Given the description of an element on the screen output the (x, y) to click on. 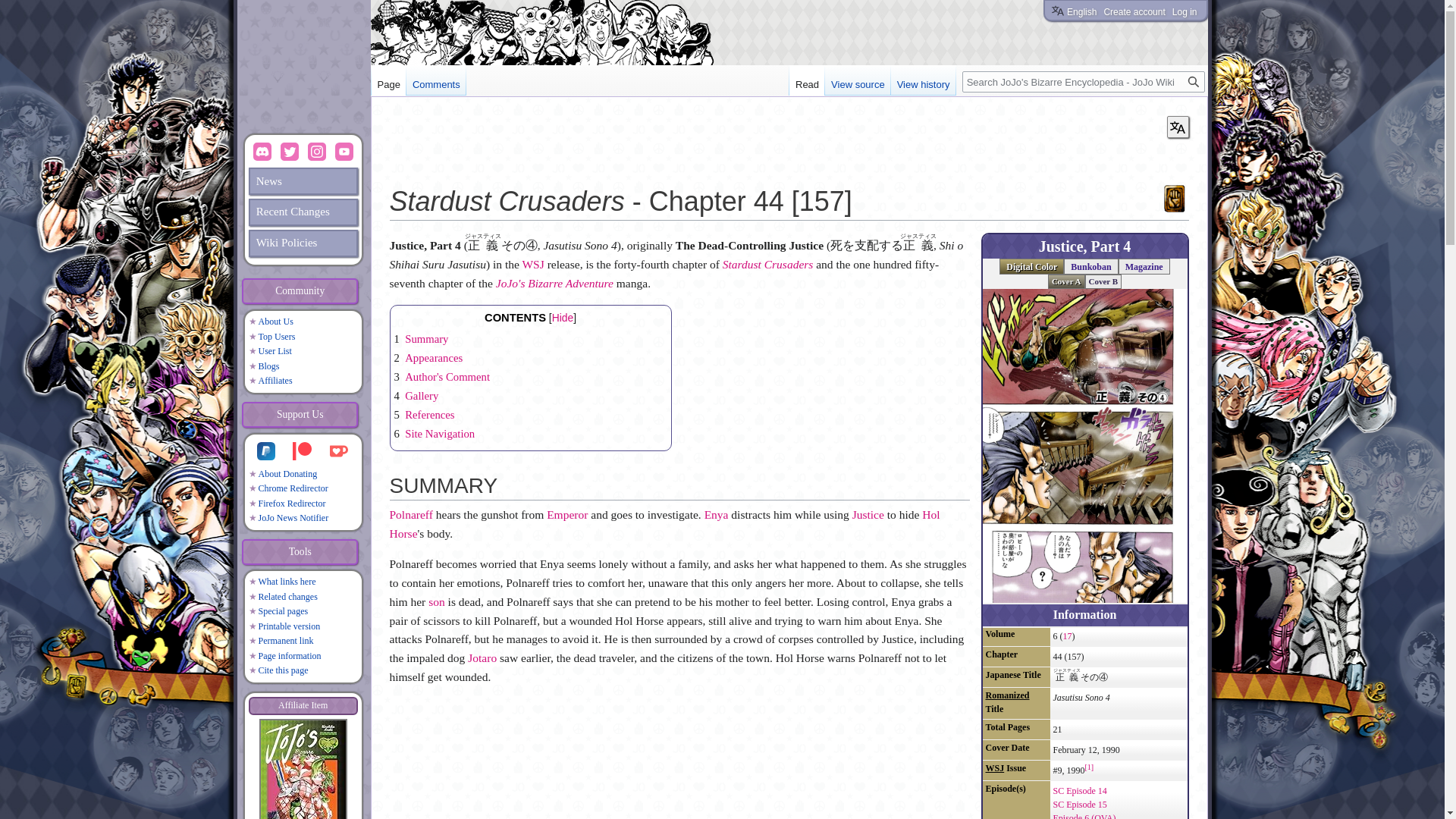
Romanized (1007, 695)
Justice (867, 513)
4 Gallery (416, 395)
Go (1193, 81)
JoJo's Bizarre Adventure (554, 282)
wikipedia:Hepburn romanization (1007, 695)
Emperor (567, 513)
SC Episode 14 (1079, 790)
Stardust Crusaders (767, 264)
SC Episode 14 (1079, 790)
